Given the description of an element on the screen output the (x, y) to click on. 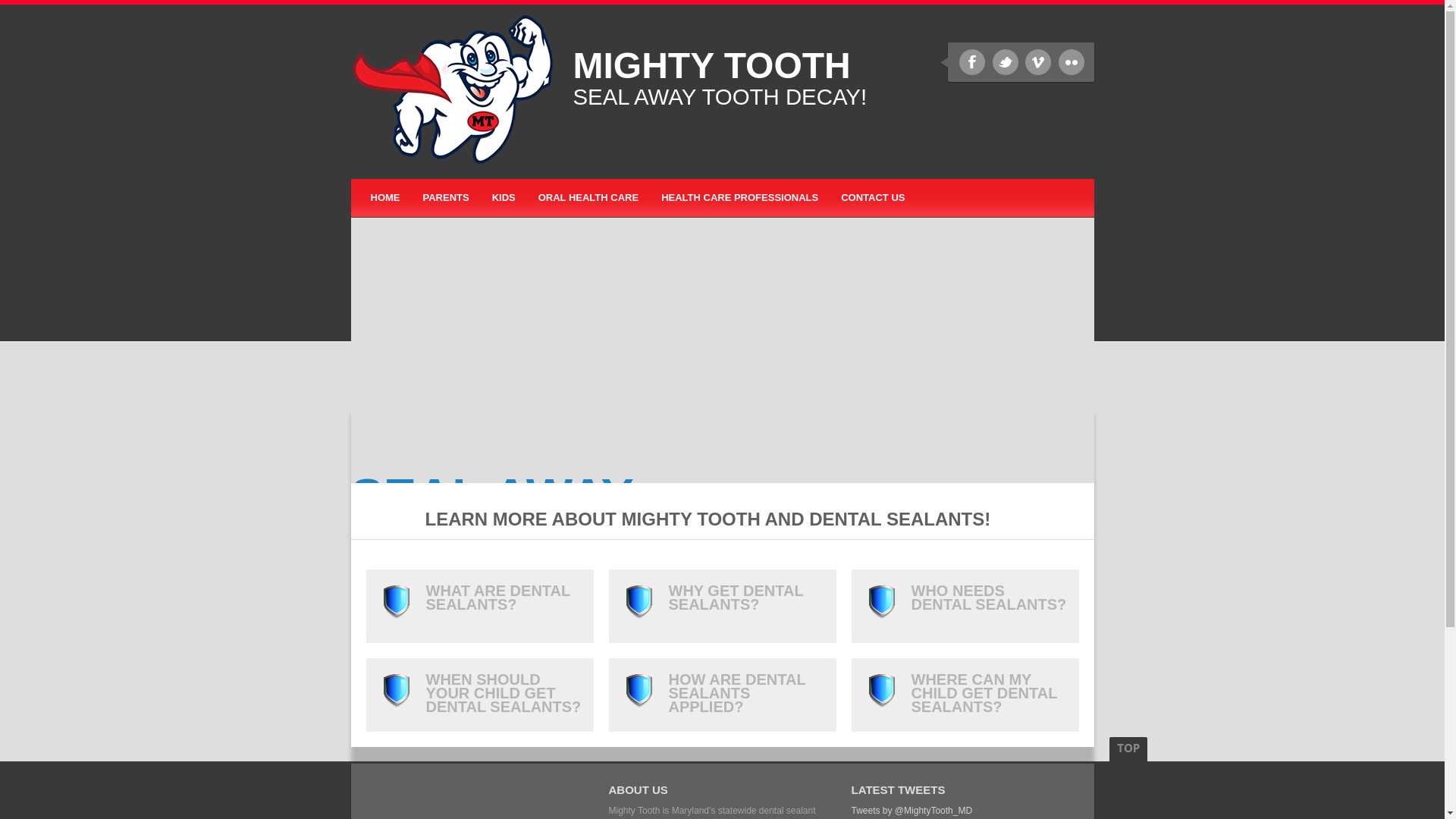
ORAL HEALTH CARE (588, 198)
WHY GET DENTAL SEALANTS? (721, 605)
WHO NEEDS DENTAL SEALANTS? (964, 605)
HOME (380, 198)
WHEN SHOULD YOUR CHILD GET DENTAL SEALANTS? (478, 695)
WHERE CAN MY CHILD GET DENTAL SEALANTS? (964, 695)
Twitter (1004, 62)
Facebook (972, 62)
HOW ARE DENTAL SEALANTS APPLIED? (721, 695)
WHAT ARE DENTAL SEALANTS? (478, 605)
CONTACT US (872, 198)
HEALTH CARE PROFESSIONALS (739, 198)
Flickr (1071, 62)
KIDS (503, 198)
PARENTS (445, 198)
